Given the description of an element on the screen output the (x, y) to click on. 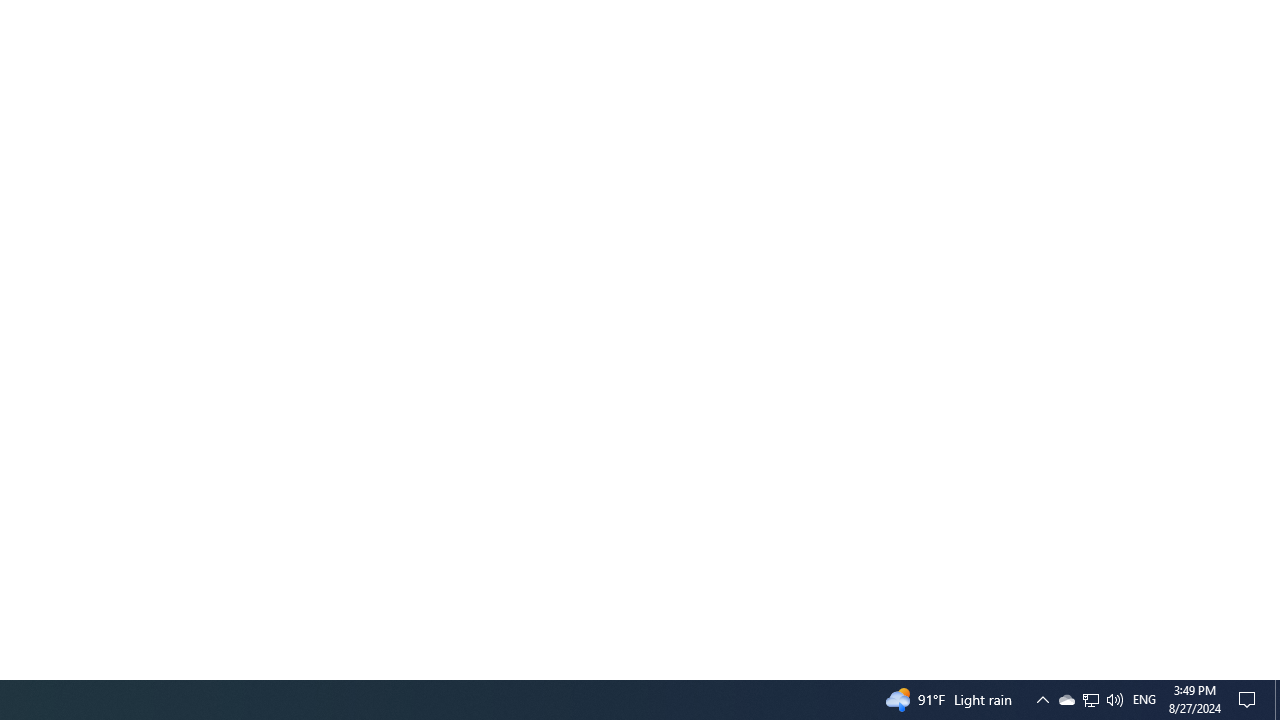
Tray Input Indicator - English (United States) (1144, 699)
